Given the description of an element on the screen output the (x, y) to click on. 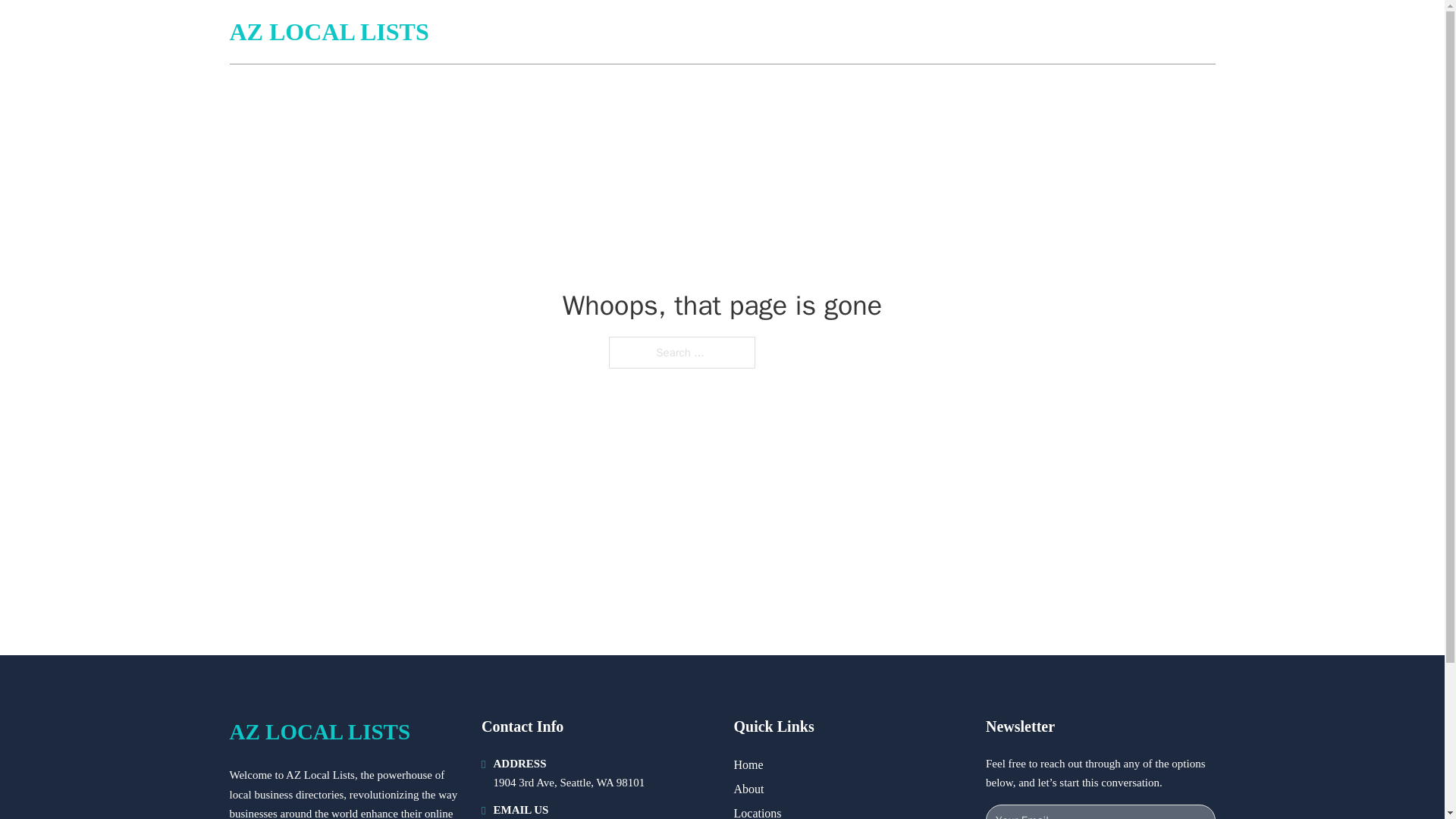
Locations (757, 811)
Home (747, 764)
HOME (1032, 31)
About (748, 788)
AZ LOCAL LISTS (328, 31)
LOCATIONS (1105, 31)
AZ LOCAL LISTS (319, 732)
